Given the description of an element on the screen output the (x, y) to click on. 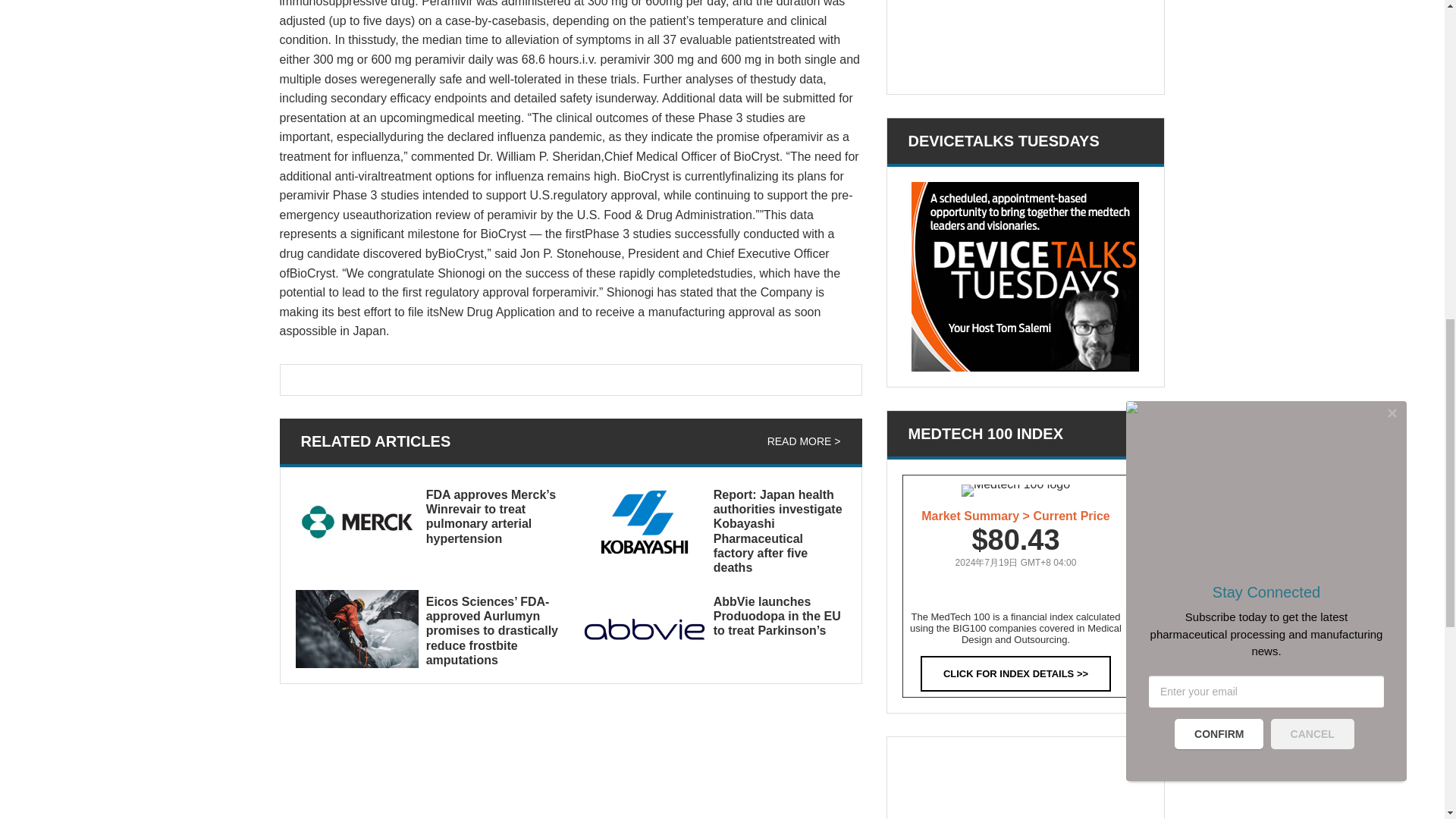
3rd party ad content (1024, 785)
3rd party ad content (1024, 39)
